Given the description of an element on the screen output the (x, y) to click on. 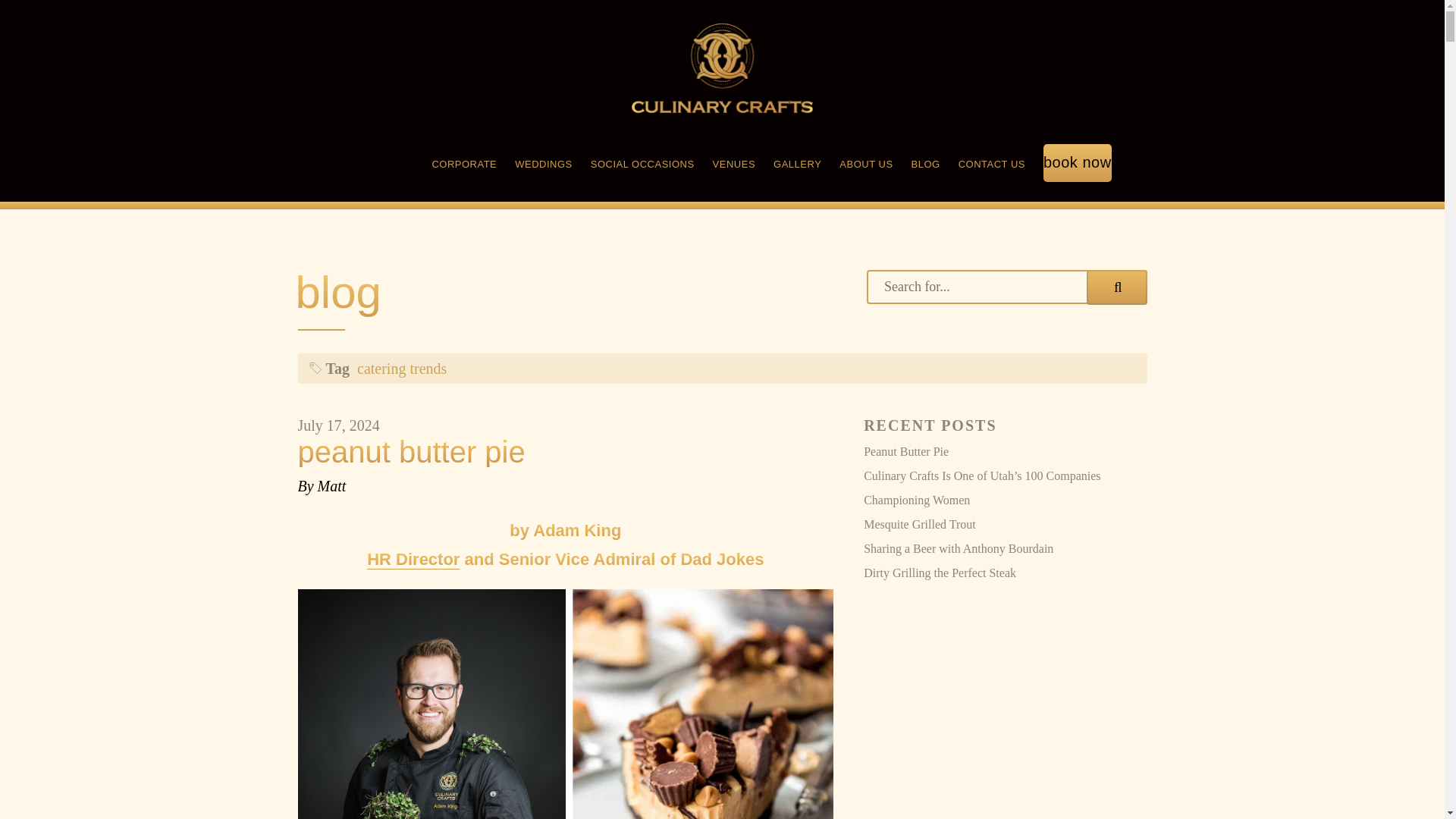
Search for... (1006, 286)
HR Director (413, 559)
book now (1077, 165)
SOCIAL OCCASIONS (642, 165)
GALLERY (797, 165)
ABOUT US (866, 165)
CORPORATE (463, 165)
Posts by Matt (331, 485)
WEDDINGS (543, 165)
VENUES (734, 165)
CONTACT US (991, 165)
peanut butter pie (564, 451)
Matt (331, 485)
